Given the description of an element on the screen output the (x, y) to click on. 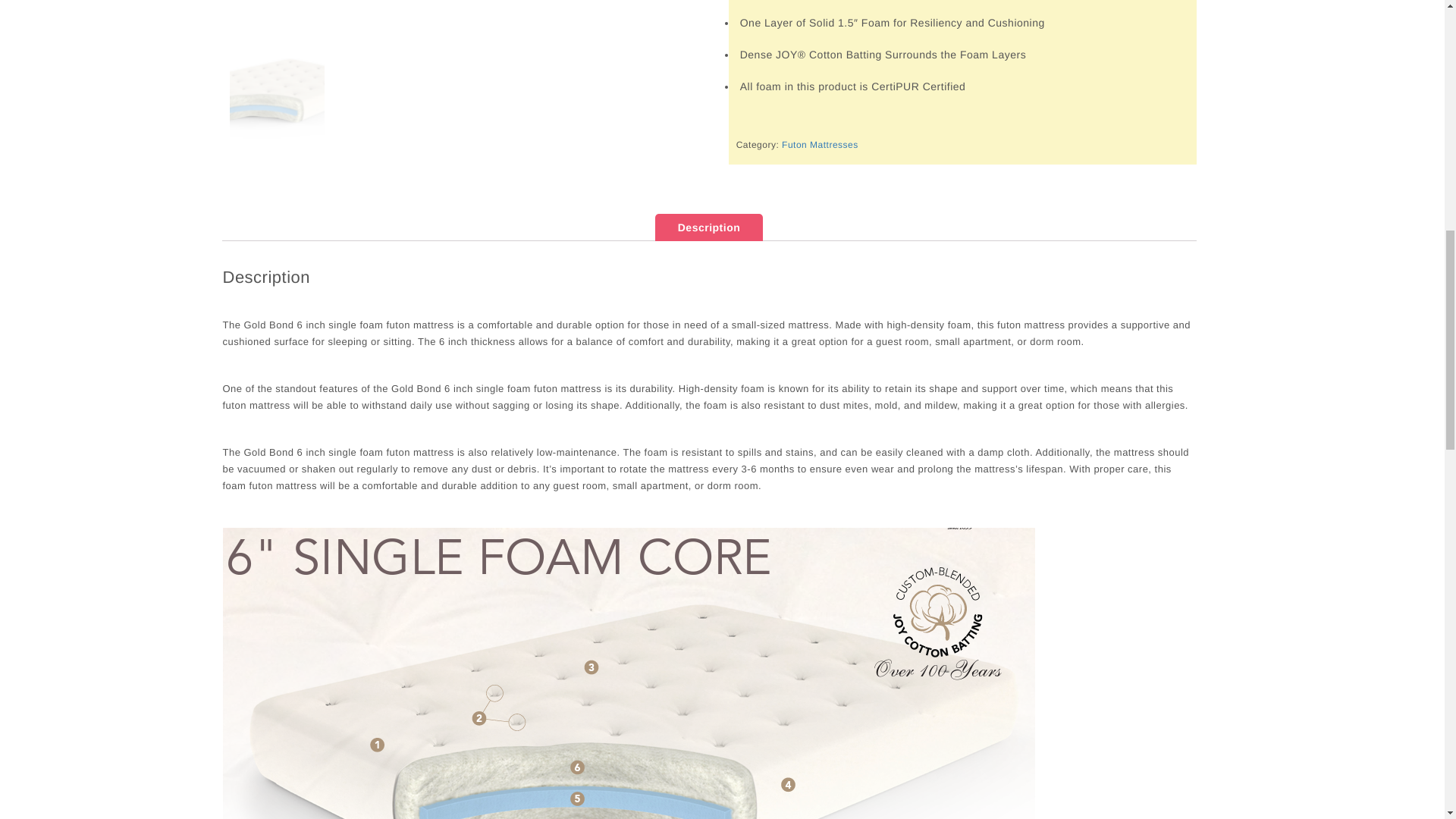
Description (709, 226)
Futon Mattresses (820, 144)
6-inch-single-foam-featuredimage (334, 11)
